Given the description of an element on the screen output the (x, y) to click on. 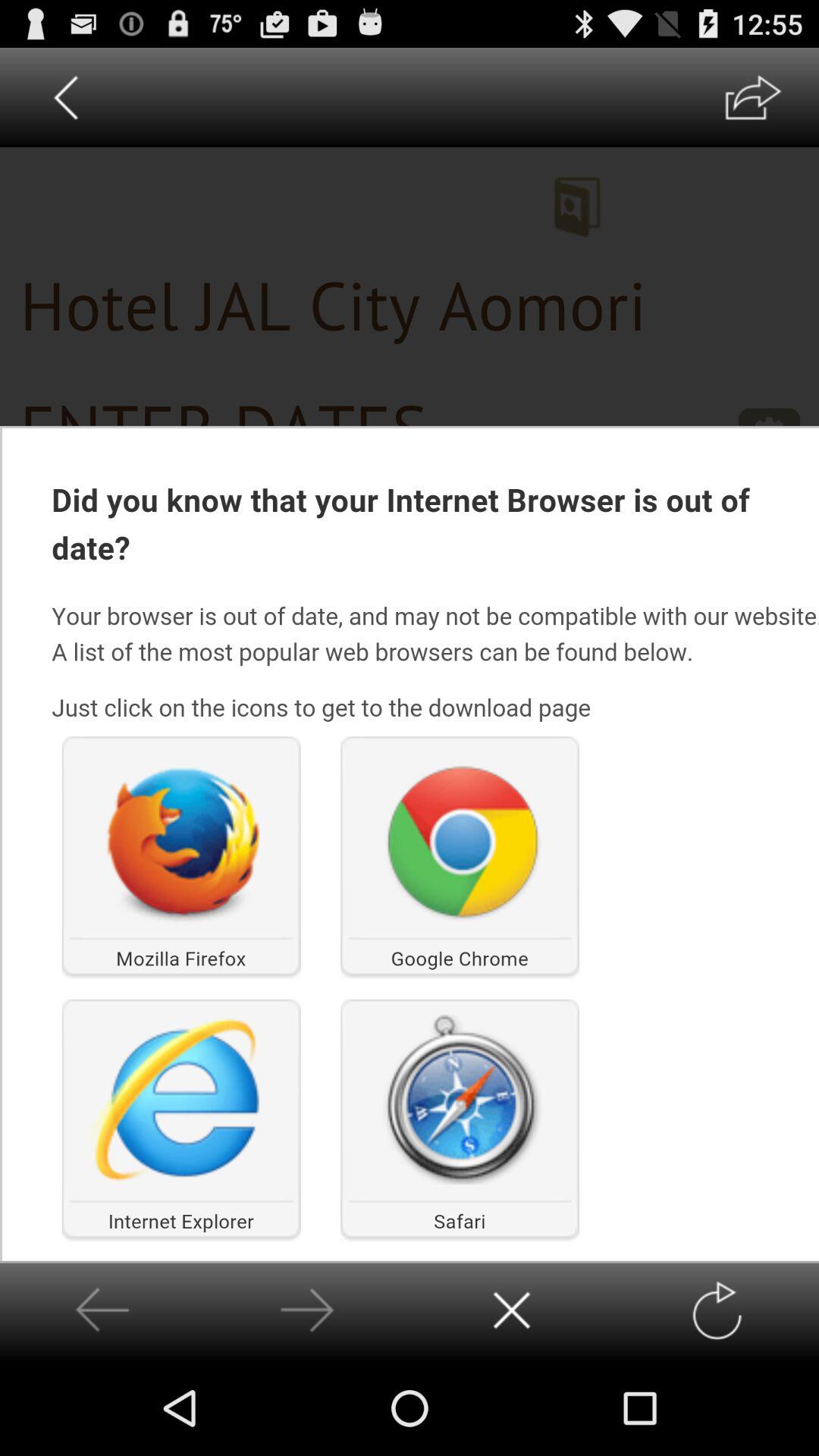
open browse (752, 97)
